Given the description of an element on the screen output the (x, y) to click on. 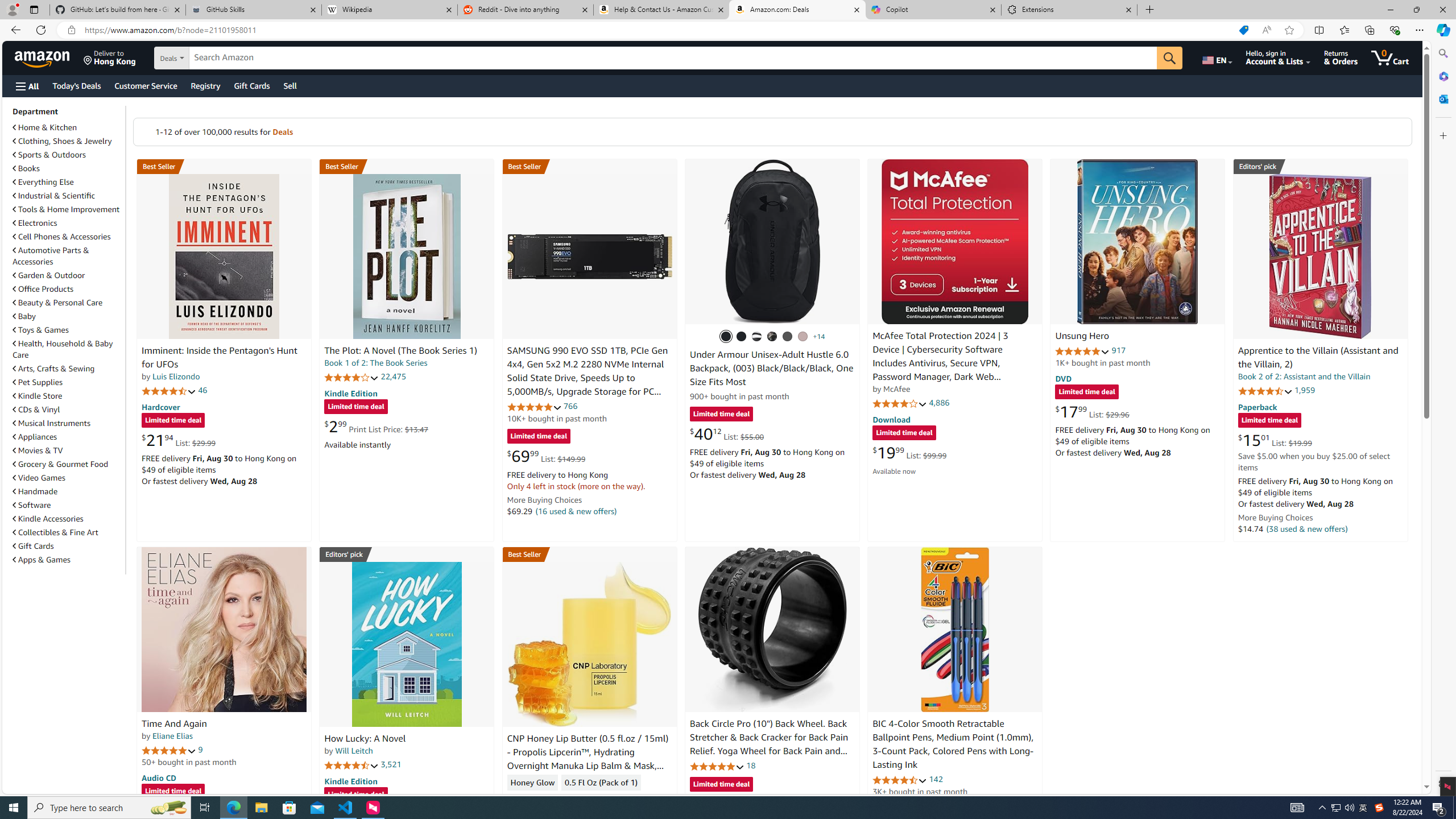
Clothing, Shoes & Jewelry (67, 140)
Office Products (67, 288)
Handmade (67, 491)
$19.99 List: $99.99 (909, 452)
4.8 out of 5 stars (716, 766)
4.7 out of 5 stars (168, 390)
Copilot (933, 9)
Apprentice to the Villain (Assistant and the Villain, 2) (1319, 256)
Best Seller in Unexplained Mysteries (223, 165)
Pet Supplies (37, 381)
Toys & Games (67, 329)
GitHub Skills (253, 9)
